Given the description of an element on the screen output the (x, y) to click on. 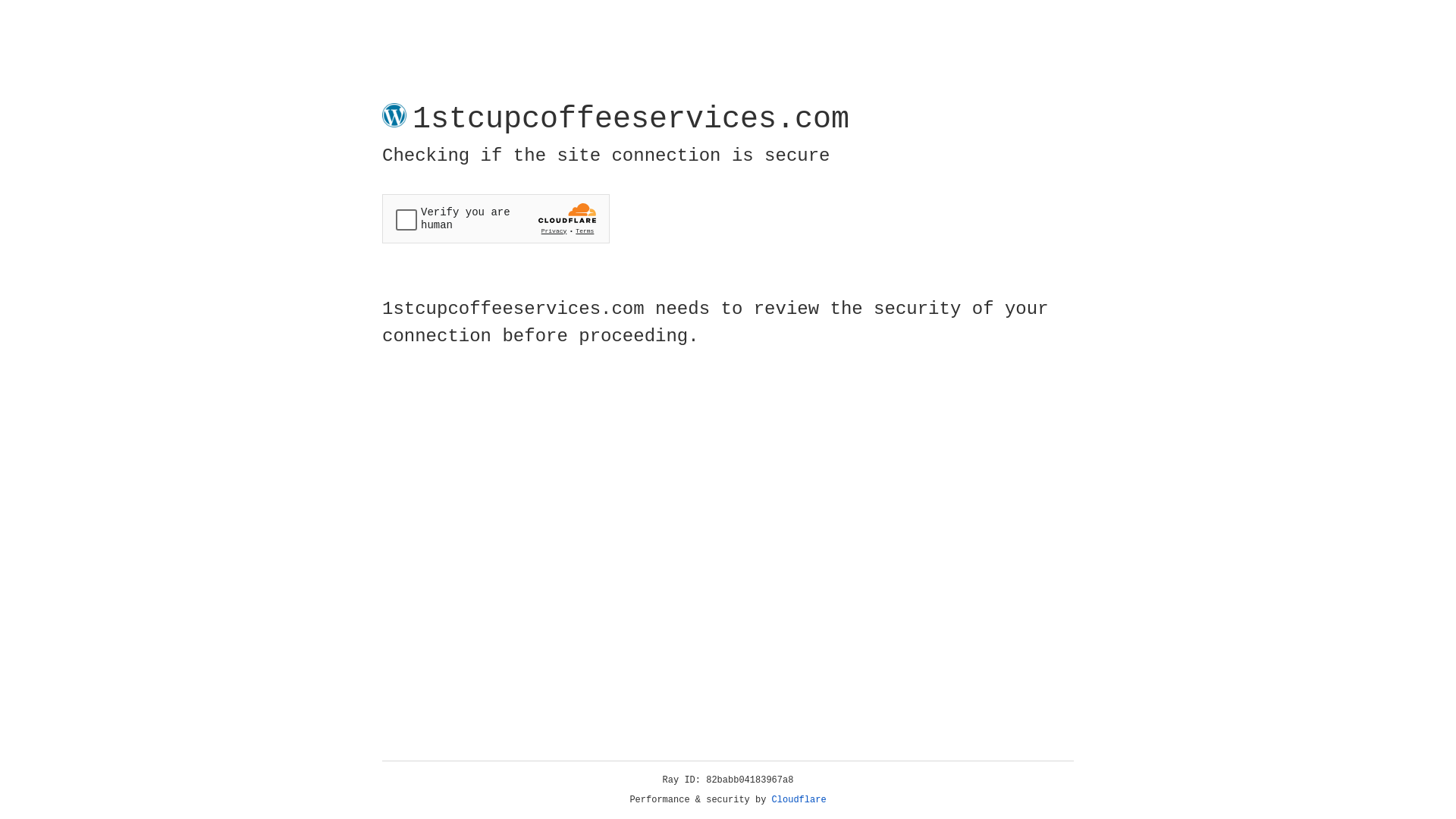
Cloudflare Element type: text (798, 799)
Widget containing a Cloudflare security challenge Element type: hover (495, 218)
